Given the description of an element on the screen output the (x, y) to click on. 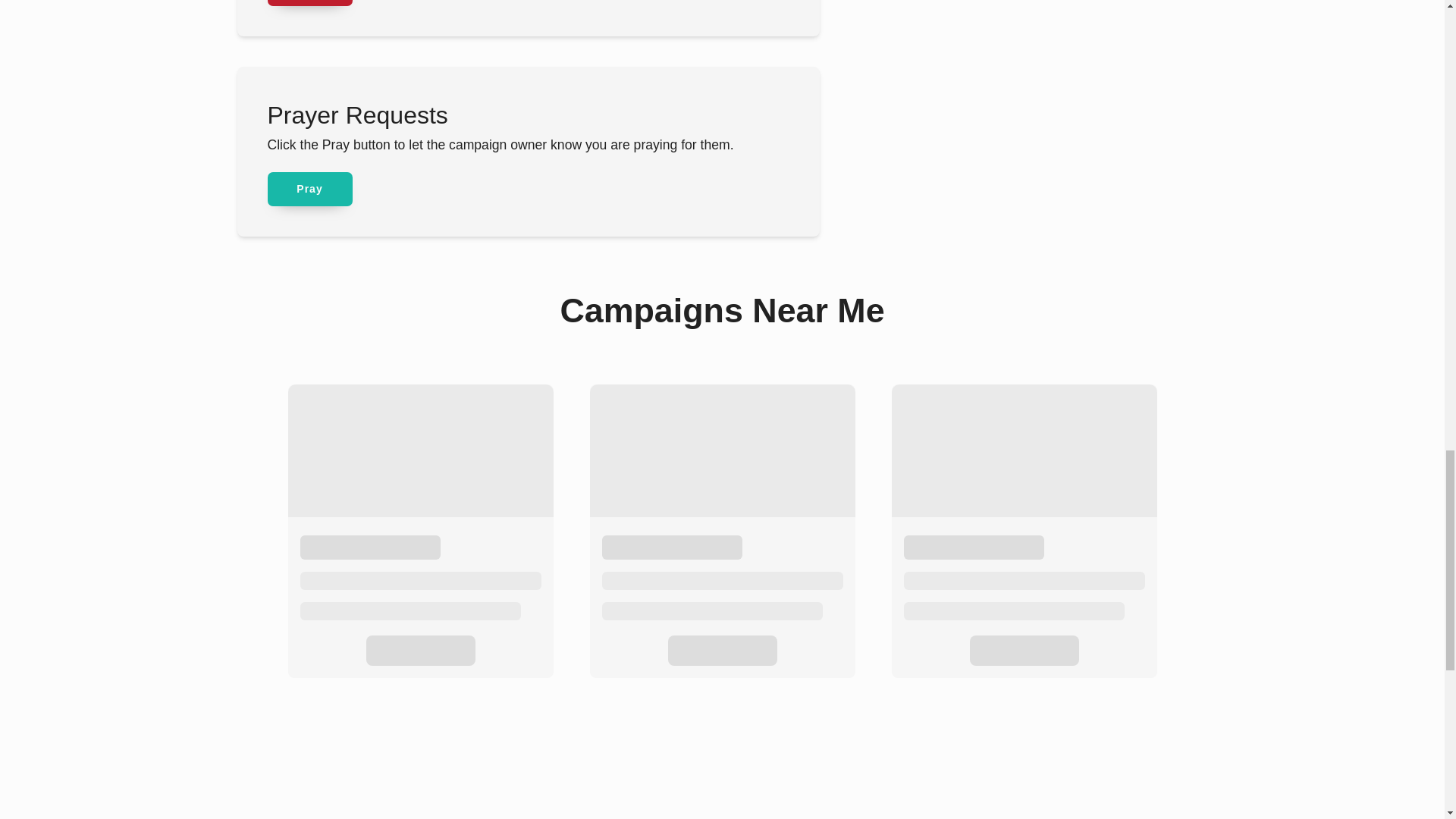
Pray (309, 188)
Follow (309, 2)
